Given the description of an element on the screen output the (x, y) to click on. 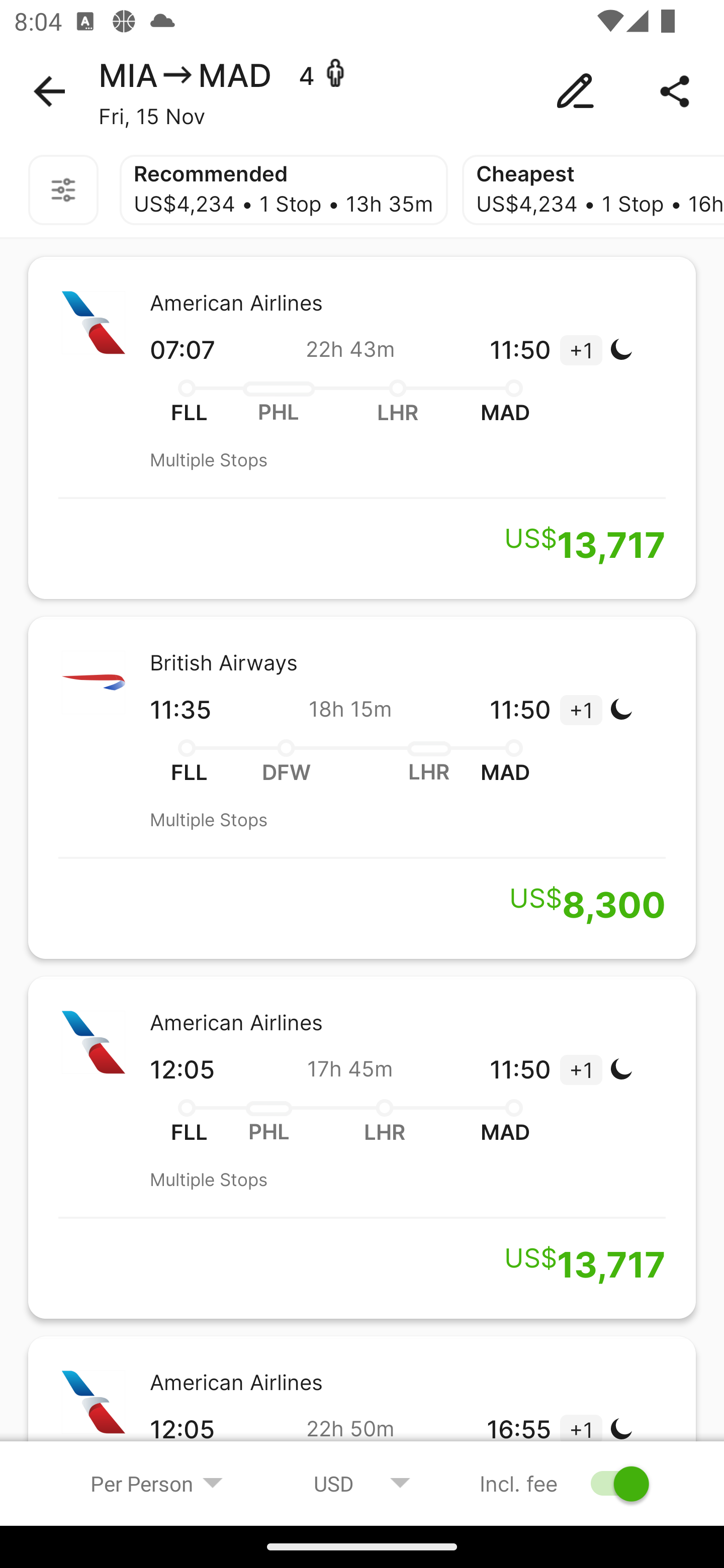
MIA MAD   4 - Fri, 15 Nov (361, 91)
Recommended  US$4,234 • 1 Stop • 13h 35m (283, 190)
Cheapest US$4,234 • 1 Stop • 16h 5m (592, 190)
Per Person (156, 1482)
USD (361, 1482)
